Given the description of an element on the screen output the (x, y) to click on. 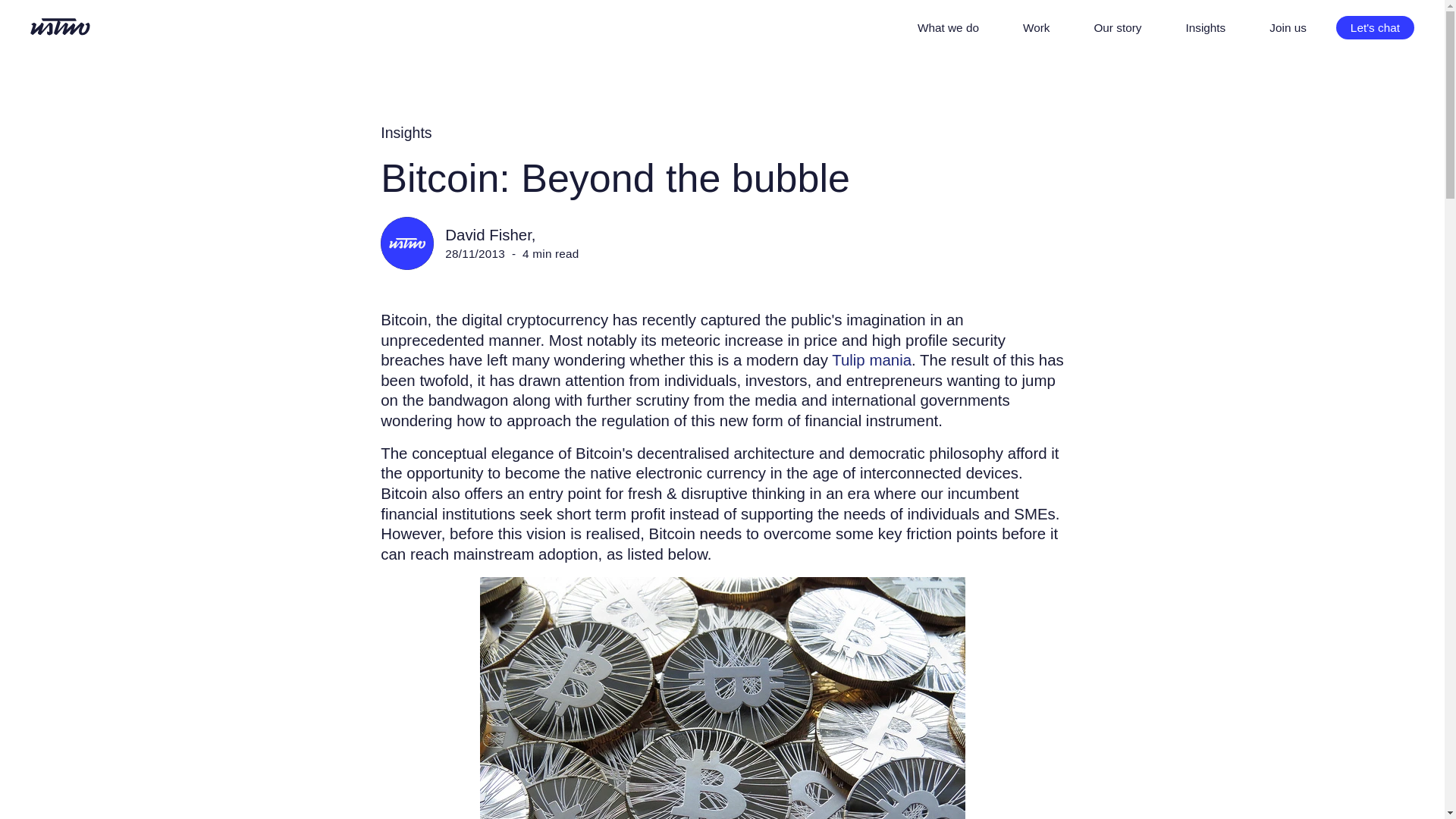
Let's chat (1374, 27)
Insights (1205, 27)
Our story (1117, 27)
Join us (1287, 27)
Work (1036, 27)
ustwo (60, 29)
ustwo (60, 27)
Insights (405, 132)
Tulip mania (871, 359)
What we do (947, 27)
